Given the description of an element on the screen output the (x, y) to click on. 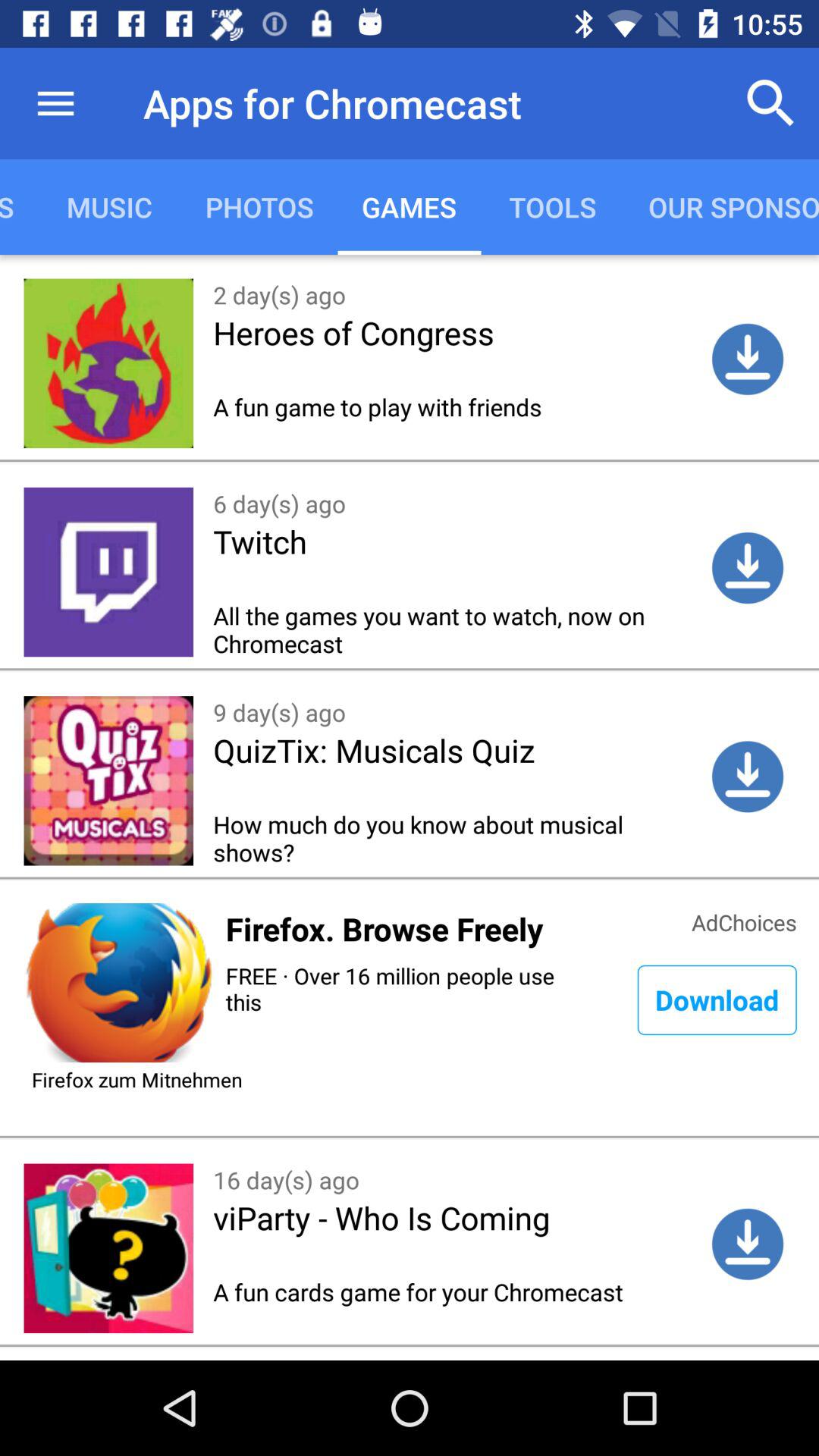
press app next to firefox. browse freely item (743, 921)
